Given the description of an element on the screen output the (x, y) to click on. 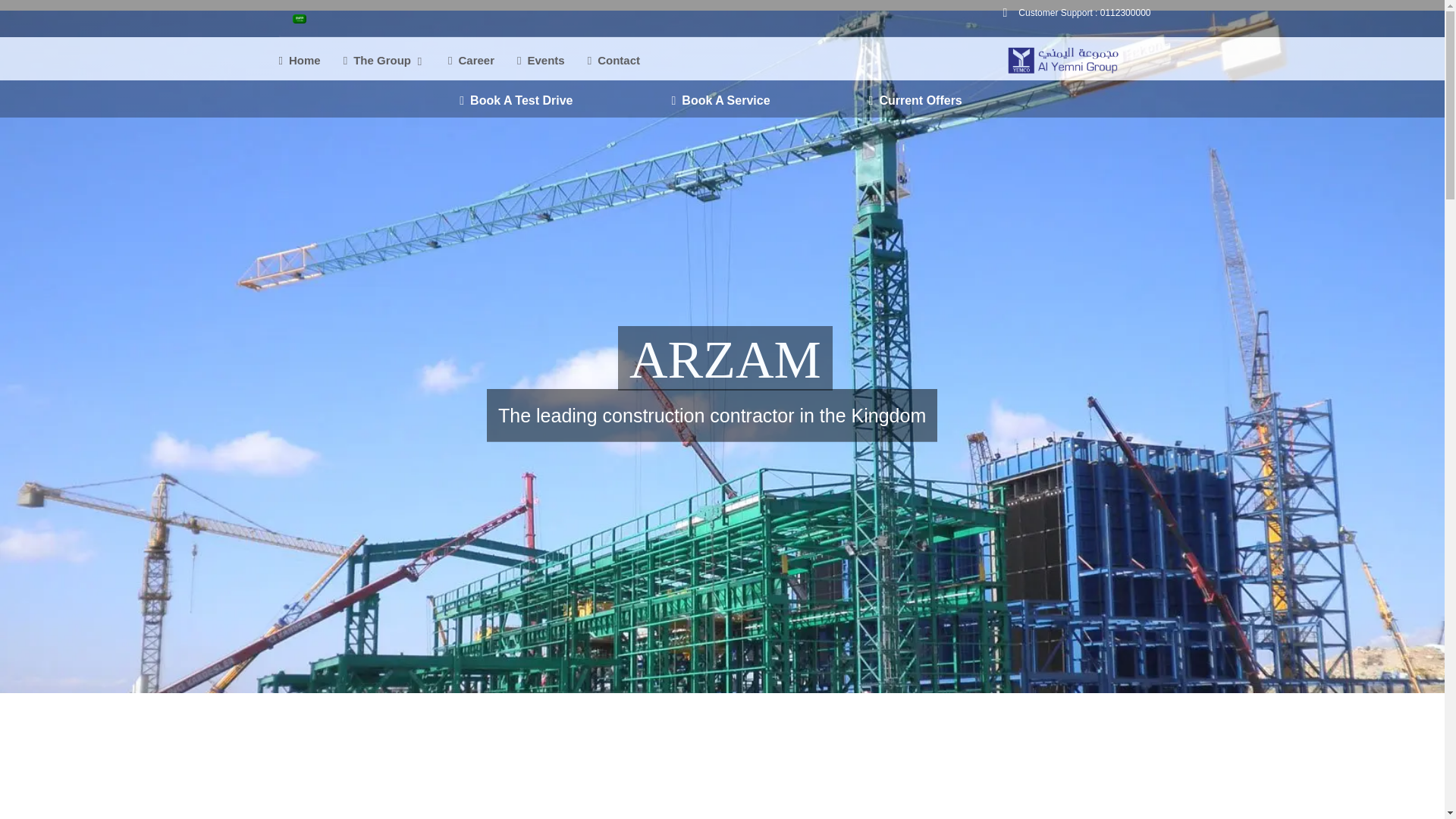
Career (471, 60)
Events (540, 60)
Customer Support : 0112300000 (1074, 11)
Book A Service (720, 100)
The Group (384, 60)
Home (299, 60)
Contact (614, 60)
Book A Test Drive (516, 100)
